Given the description of an element on the screen output the (x, y) to click on. 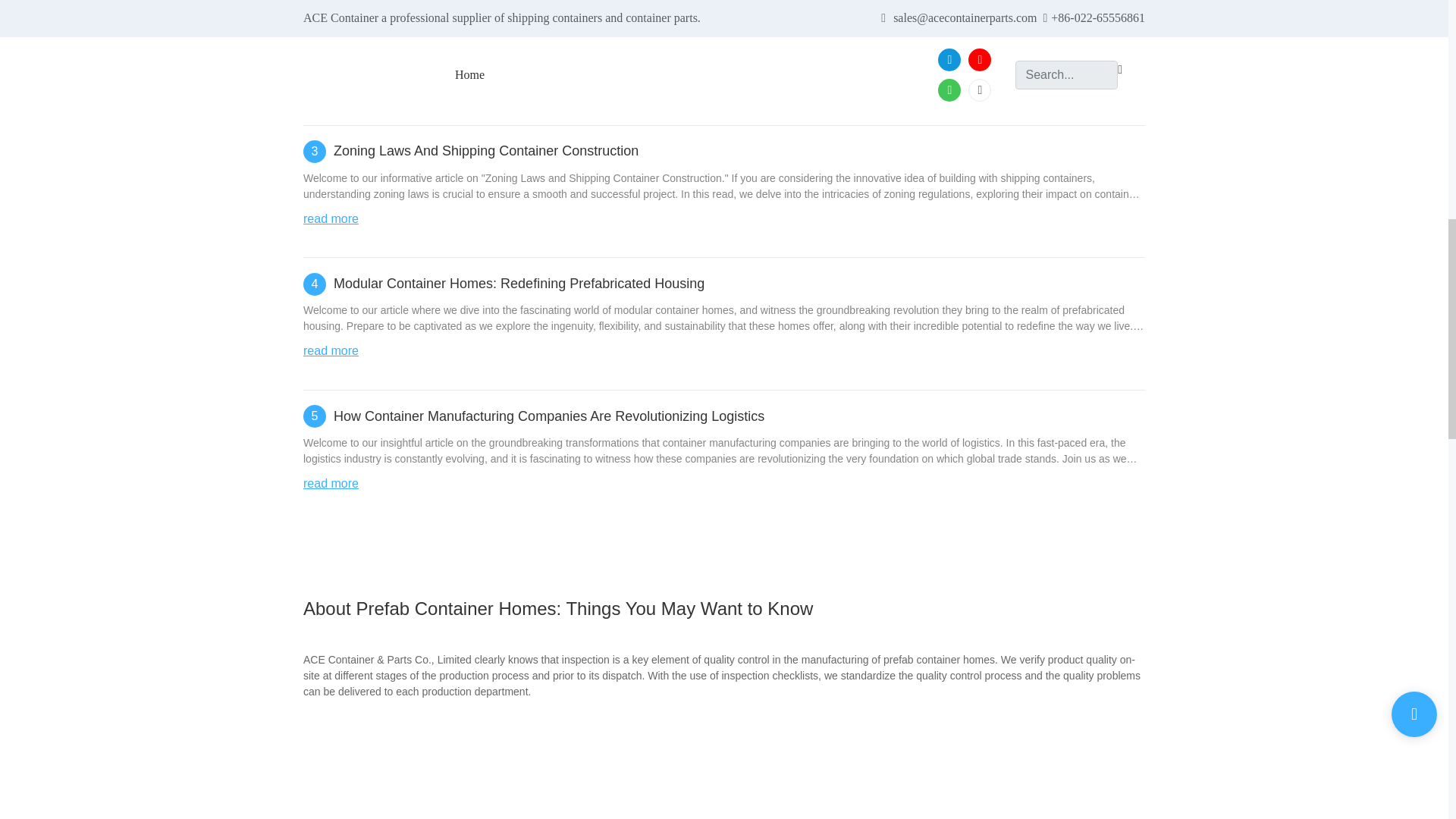
Zoning Laws And Shipping Container Construction (486, 150)
Redefining Living Spaces With Shipping Container Homes (509, 19)
Modular Container Homes: Redefining Prefabricated Housing (518, 283)
